Given the description of an element on the screen output the (x, y) to click on. 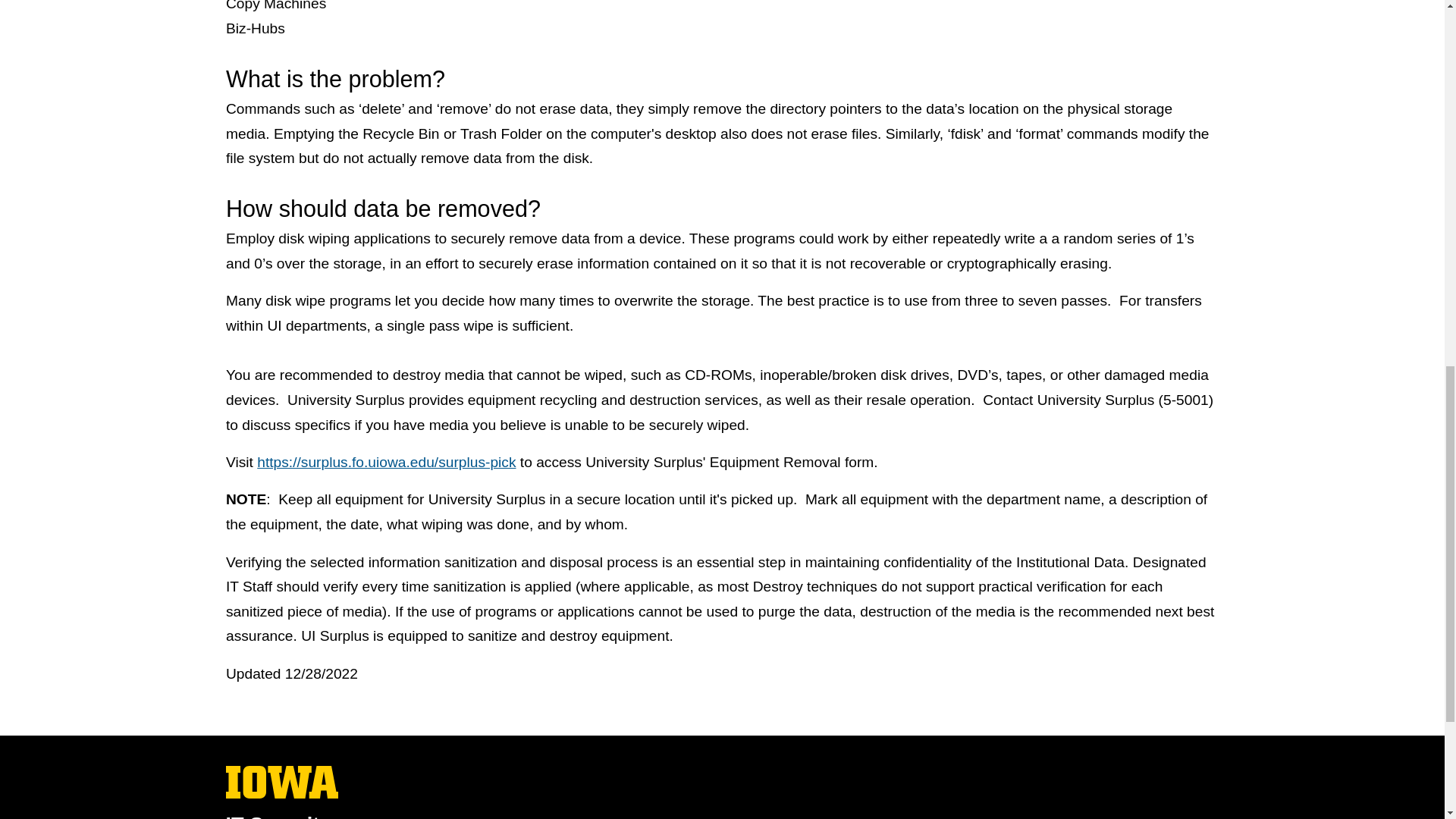
University of Iowa (282, 793)
IT Security (282, 781)
